Given the description of an element on the screen output the (x, y) to click on. 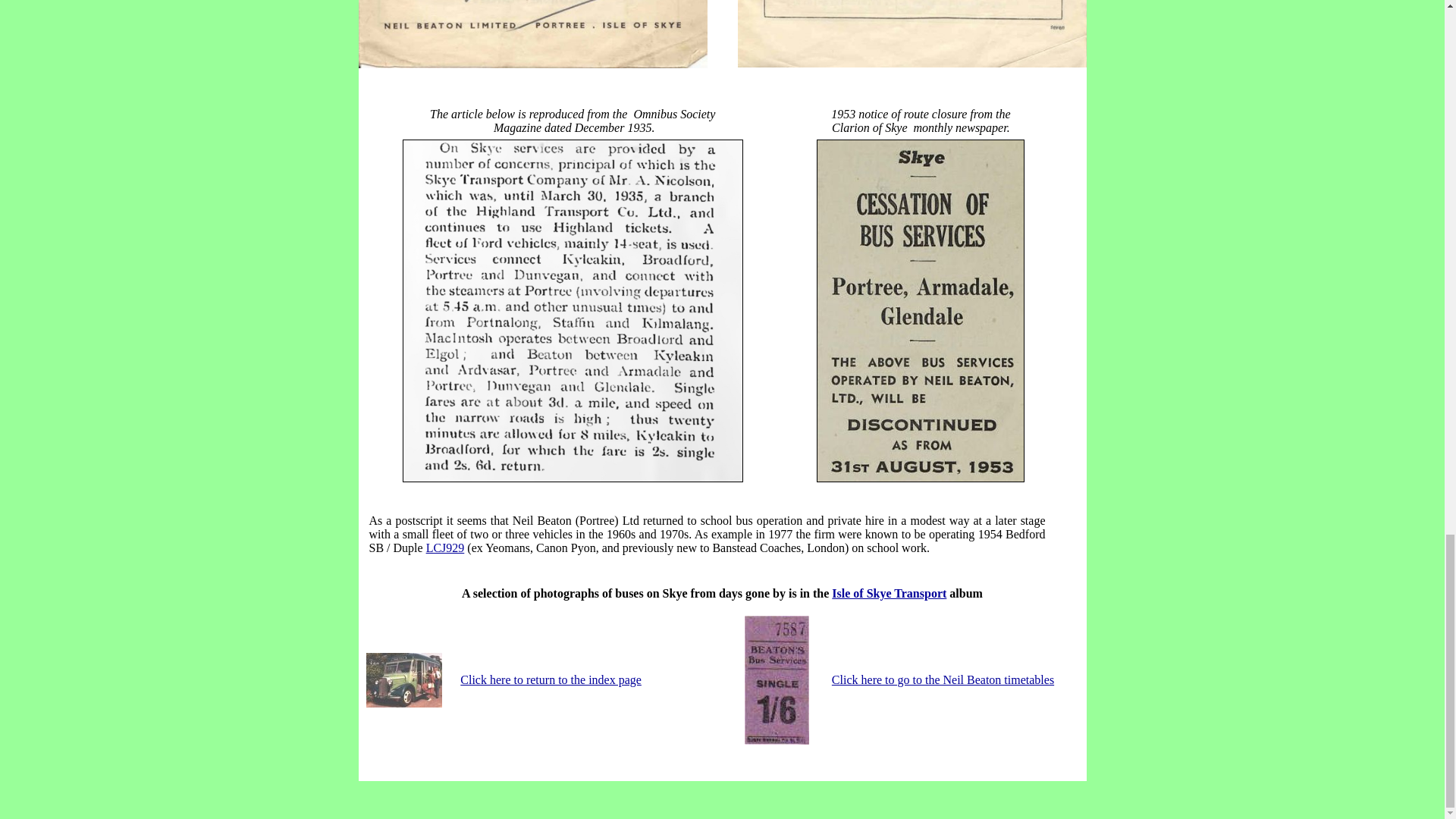
Isle of Skye Transport (888, 593)
Click here to go to the Neil Beaton timetables (942, 679)
LCJ929 (445, 547)
Click here to return to the index page (551, 679)
